Given the description of an element on the screen output the (x, y) to click on. 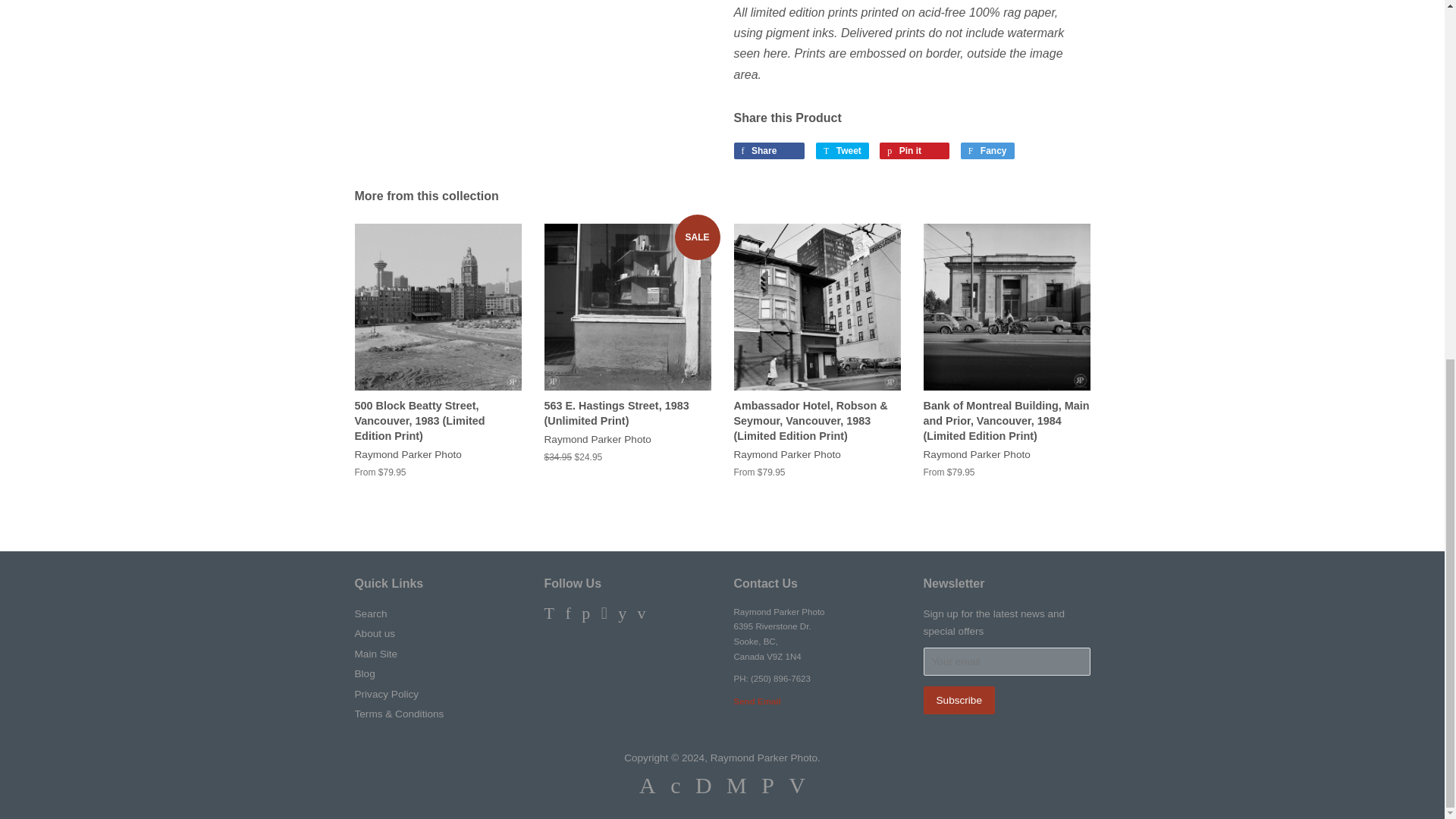
Raymond Parker Photo on Instagram (604, 614)
Subscribe (958, 700)
Tweet on Twitter (842, 150)
Share on Facebook (769, 150)
Raymond Parker Photo on Facebook (567, 614)
Pin on Pinterest (914, 150)
Raymond Parker Photo on Pinterest (584, 614)
Add to Fancy (987, 150)
Raymond Parker Photo on YouTube (621, 614)
Raymond Parker Photo on Twitter (549, 614)
Raymond Parker Photo on Vimeo (641, 614)
